Given the description of an element on the screen output the (x, y) to click on. 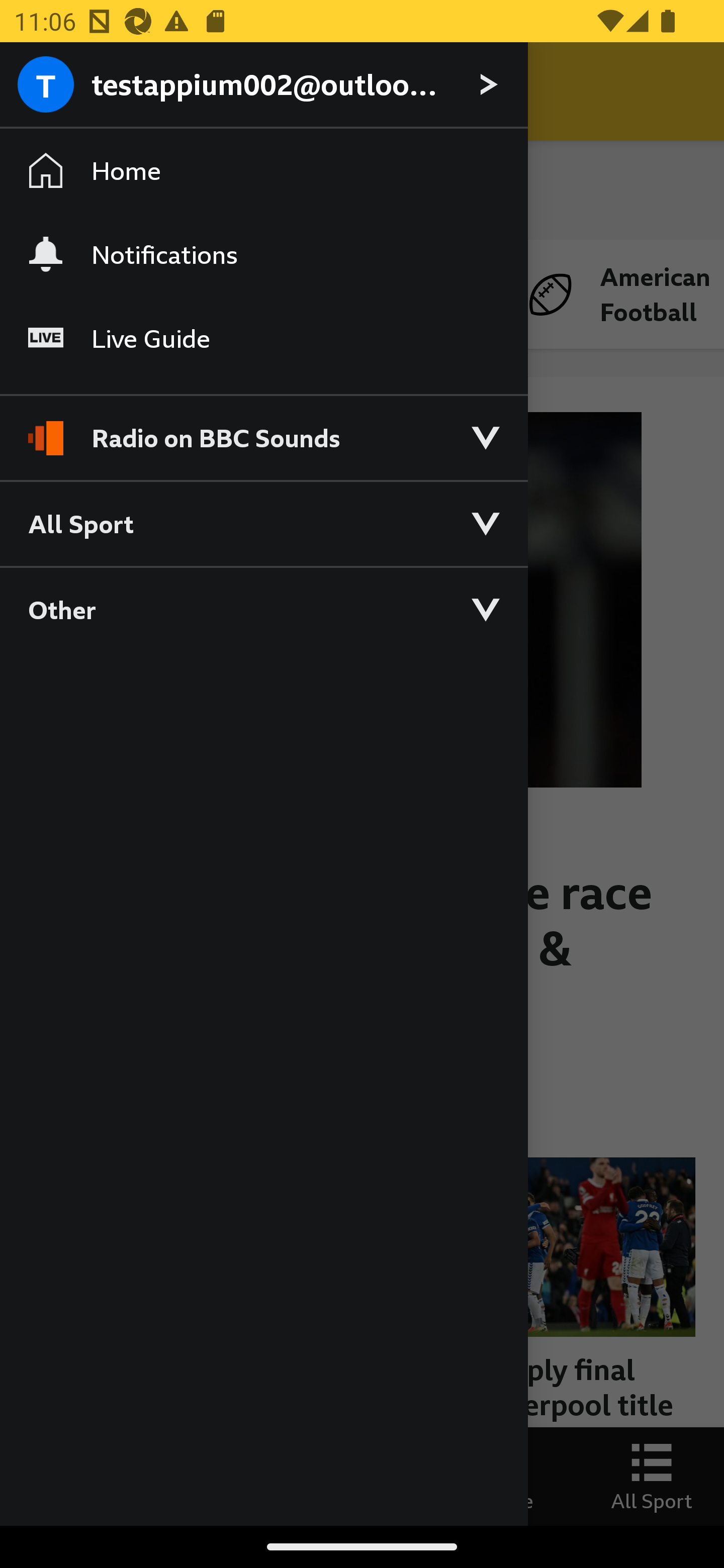
testappium002@outlook.com (263, 85)
Home (263, 170)
Notifications (263, 253)
Live Guide (263, 338)
Radio on BBC Sounds (263, 429)
All Sport (263, 522)
Other (263, 609)
